Given the description of an element on the screen output the (x, y) to click on. 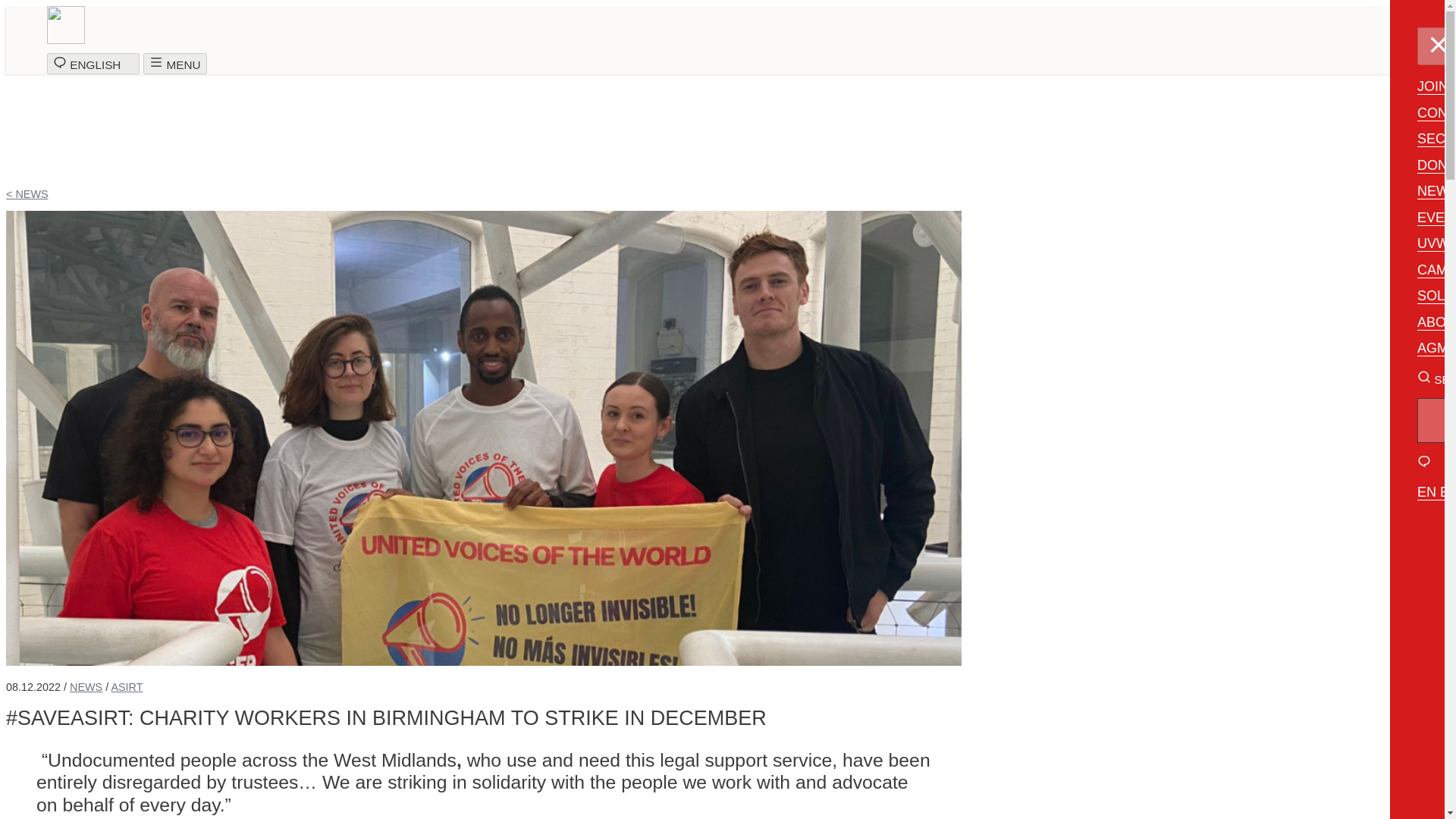
ENGLISH (92, 63)
ASIRT (126, 686)
NEWS (85, 686)
MENU (174, 63)
